Given the description of an element on the screen output the (x, y) to click on. 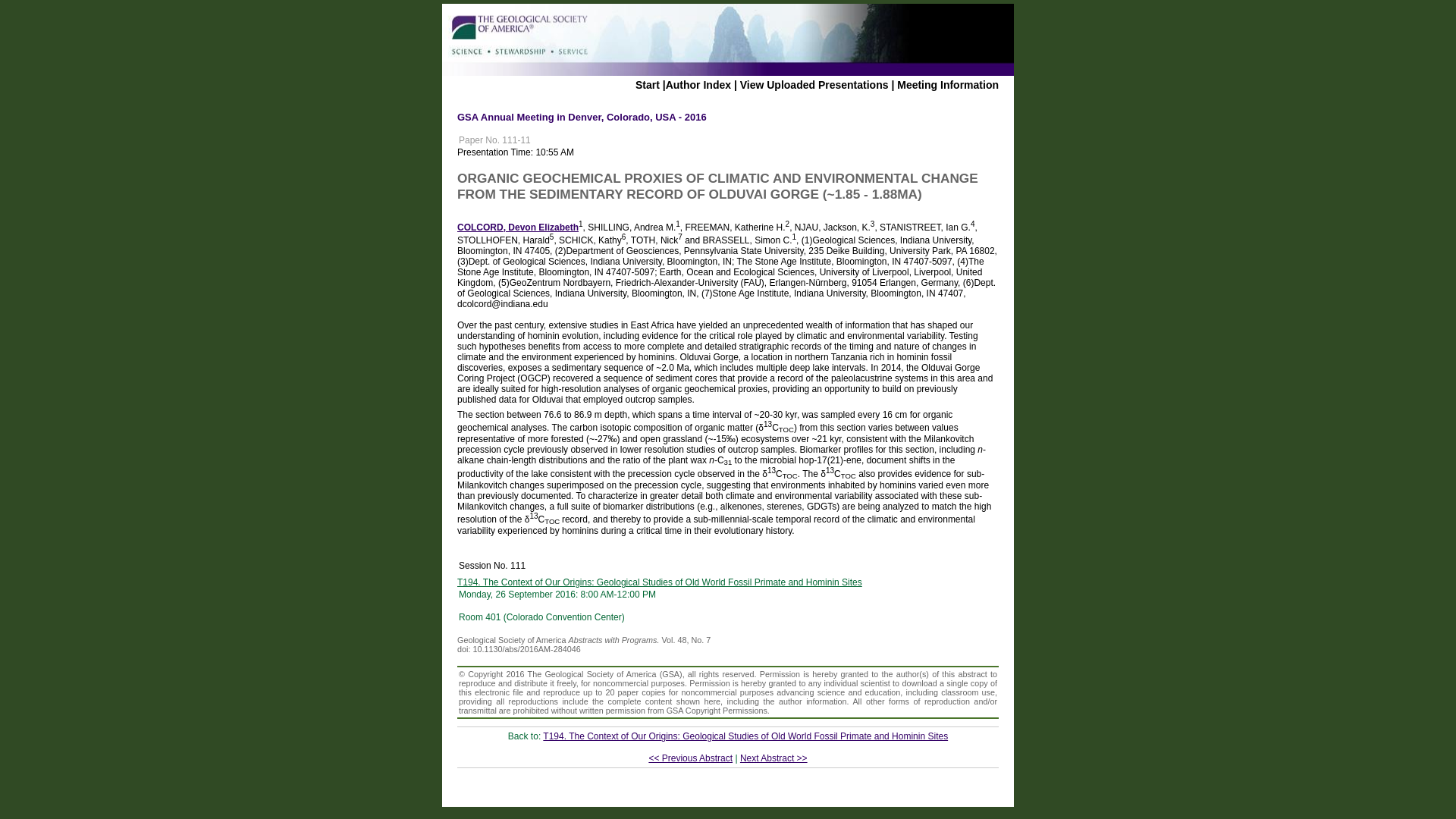
COLCORD, Devon Elizabeth (517, 226)
Start (646, 84)
Author Index (697, 84)
View Uploaded Presentations (813, 84)
Meeting Information (947, 84)
